Given the description of an element on the screen output the (x, y) to click on. 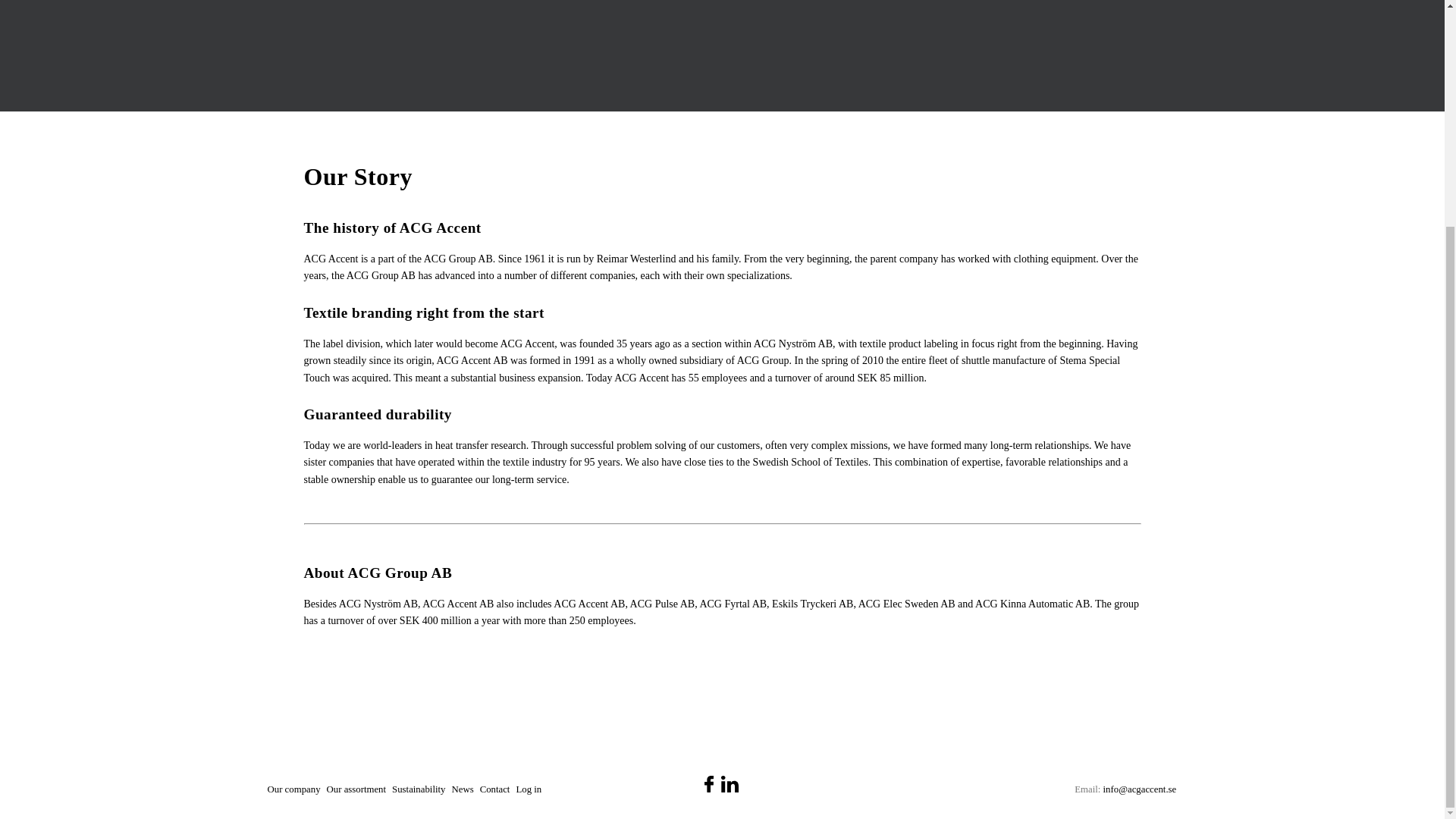
Log in (528, 789)
Our company (293, 789)
Sustainability (418, 789)
News (462, 789)
Our assortment (356, 789)
Contact (495, 789)
